Given the description of an element on the screen output the (x, y) to click on. 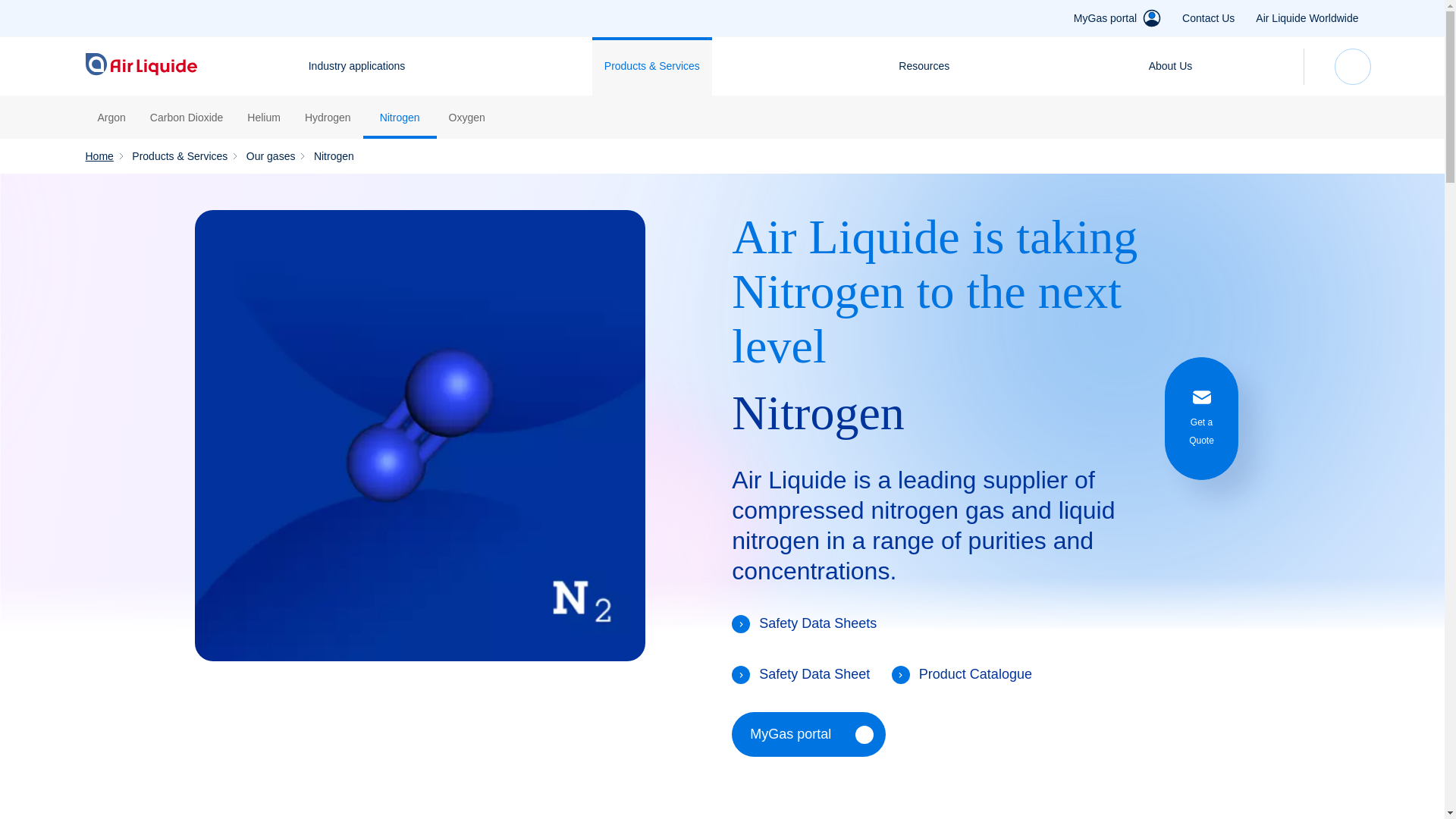
Industry applications (357, 65)
Contact Us (1208, 18)
Air Liquide Worldwide (1306, 18)
Resources (923, 65)
MyGas portal (1105, 18)
